Given the description of an element on the screen output the (x, y) to click on. 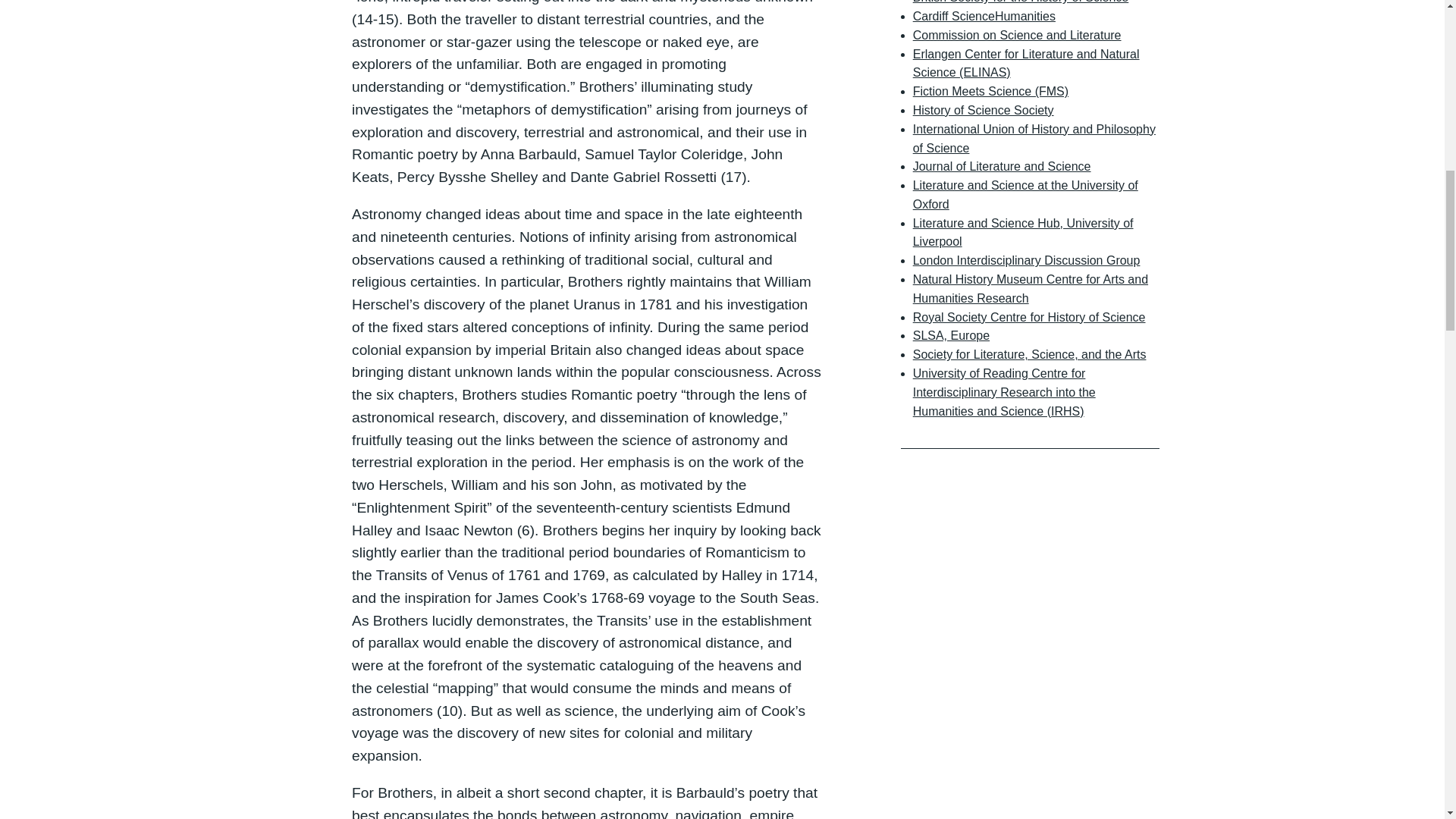
Cardiff ScienceHumanities (983, 15)
British Society for the History of Science (1020, 2)
Commission on Science and Literature (1016, 34)
